Given the description of an element on the screen output the (x, y) to click on. 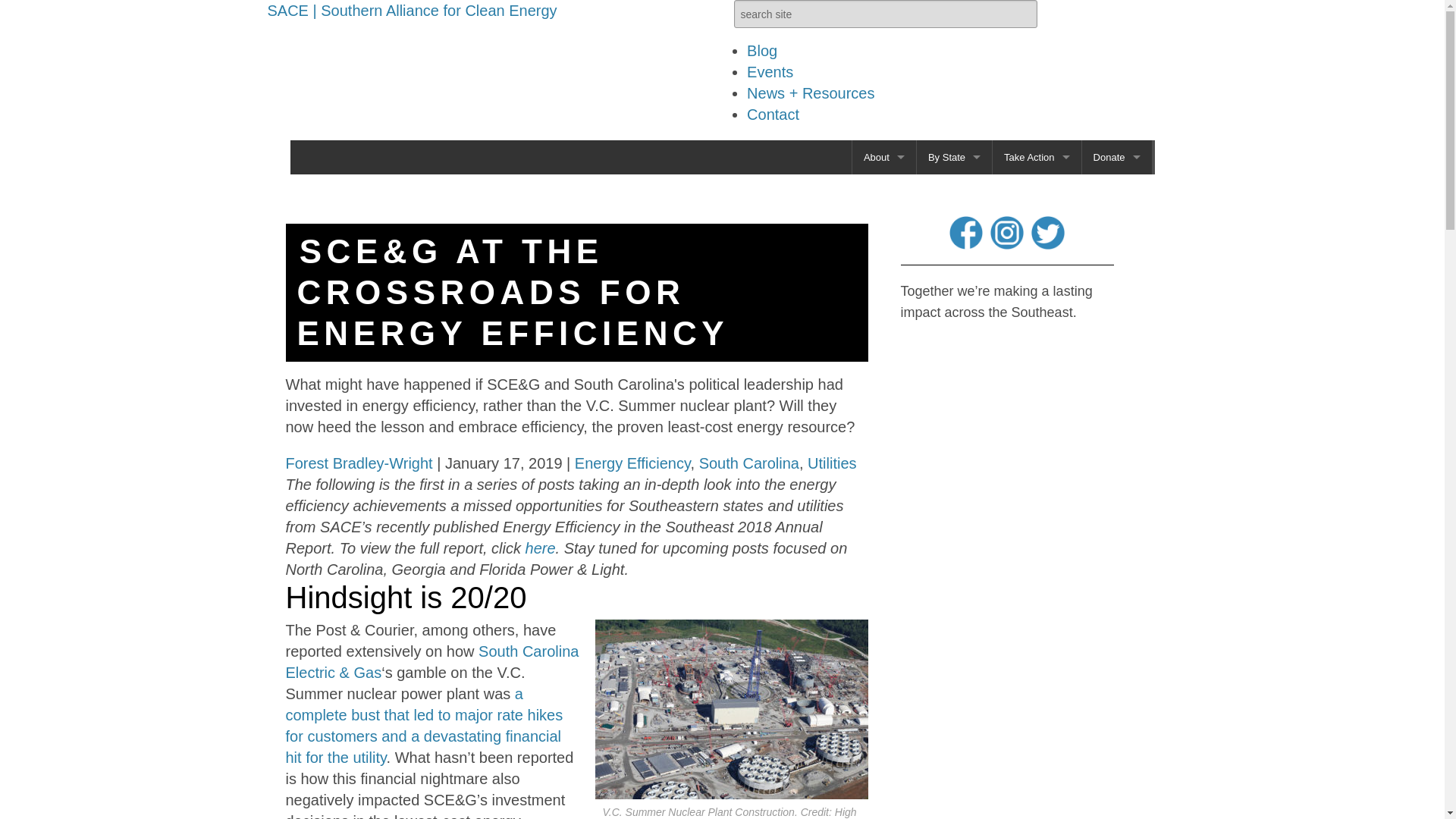
here (540, 547)
About Us (883, 191)
Forest Bradley-Wright (358, 463)
Energy Efficiency (1036, 361)
Supporters (883, 327)
Wind (1036, 259)
Tennessee (954, 327)
Georgia (954, 225)
Events (769, 71)
South Carolina (748, 463)
